Given the description of an element on the screen output the (x, y) to click on. 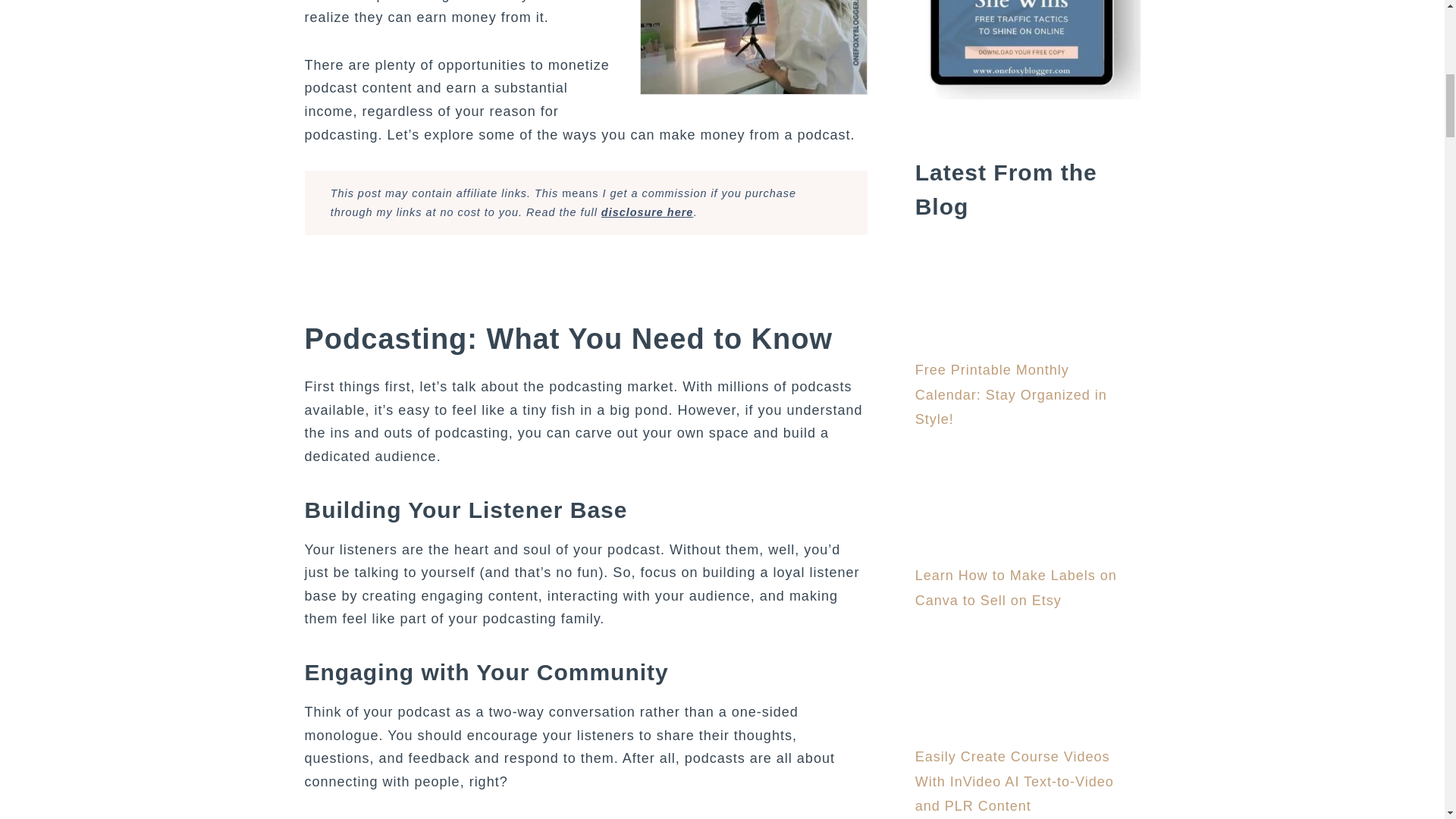
Learn How to Make Labels on Canva to Sell on Etsy 12 (972, 506)
disclosure here (647, 212)
7 Creative Ways to Make Money From a Podcast in 2024 1 (753, 47)
